Given the description of an element on the screen output the (x, y) to click on. 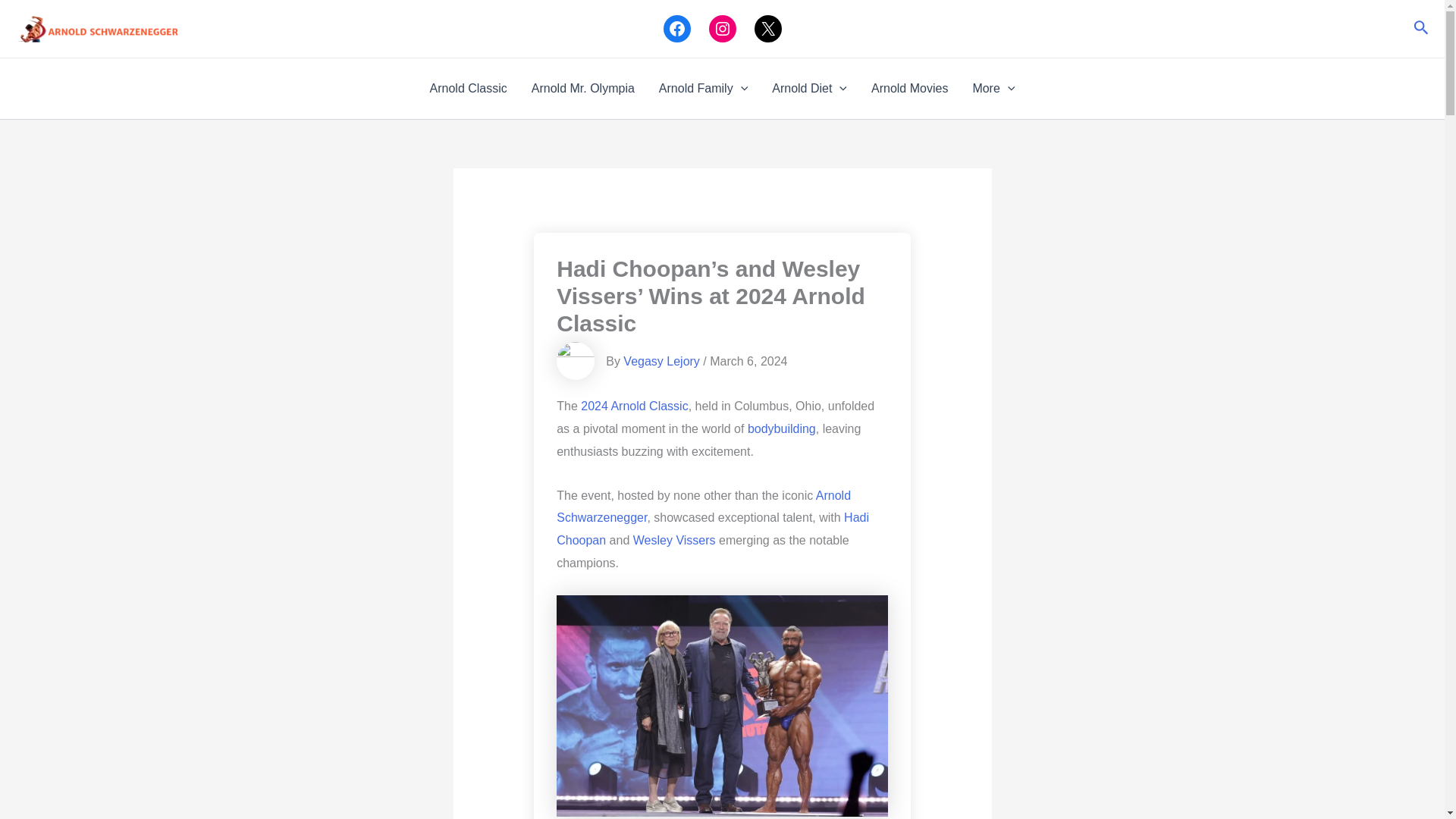
X (767, 28)
Vegasy Lejory (661, 360)
2024 Arnold Classic (633, 405)
Arnold Family (703, 88)
Posts by Vegasy Lejory (661, 360)
Arnold Classic (468, 88)
Facebook (676, 28)
bodybuilding (781, 428)
Hadi Choopan (712, 529)
More (992, 88)
Arnold Mr. Olympia (582, 88)
Search (1421, 29)
Arnold Diet (809, 88)
Arnold Movies (909, 88)
Arnold Schwarzenegger (703, 506)
